Given the description of an element on the screen output the (x, y) to click on. 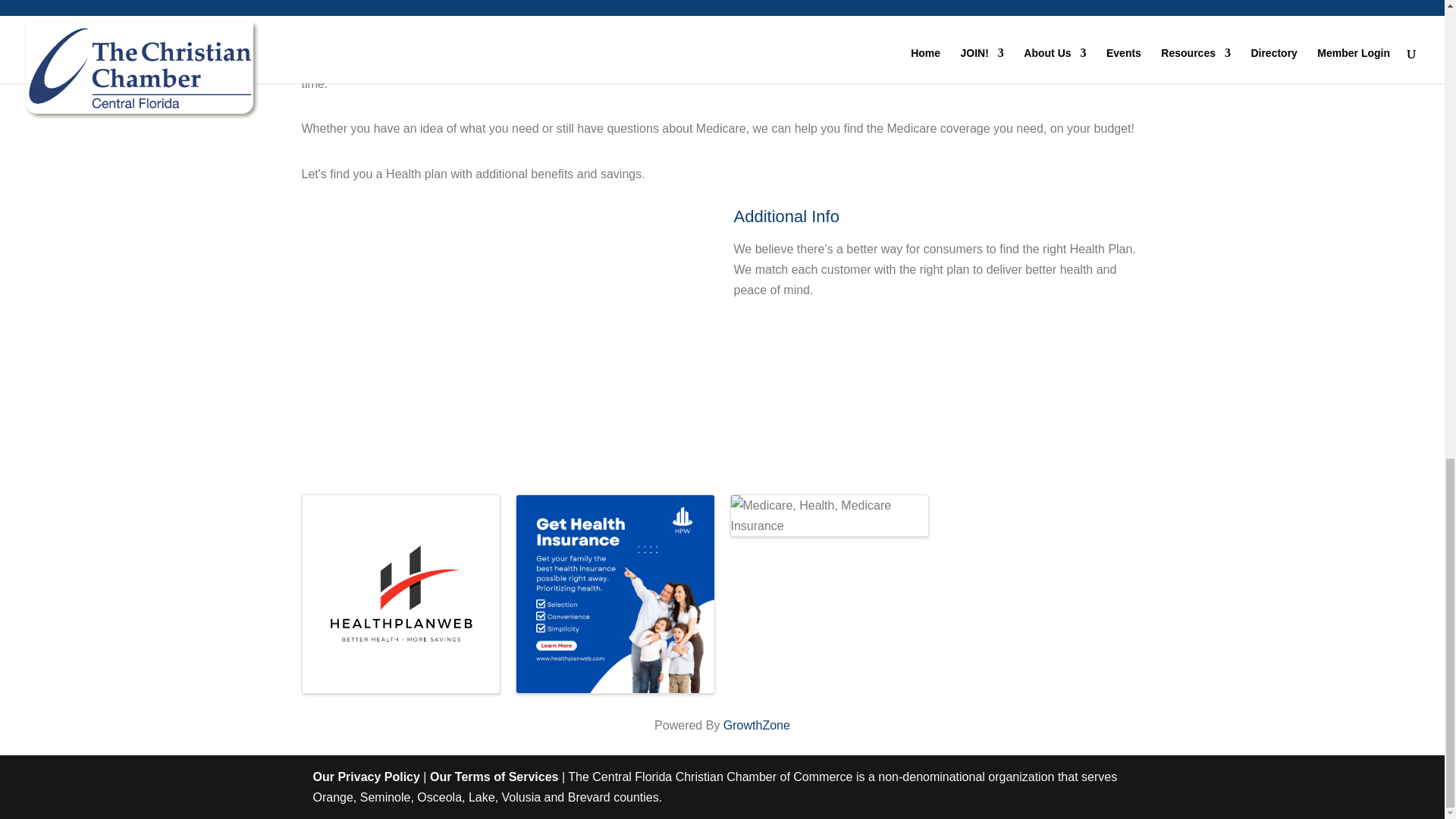
Our Privacy Policy (366, 776)
GrowthZone (756, 725)
Our Terms of Services (494, 776)
